Given the description of an element on the screen output the (x, y) to click on. 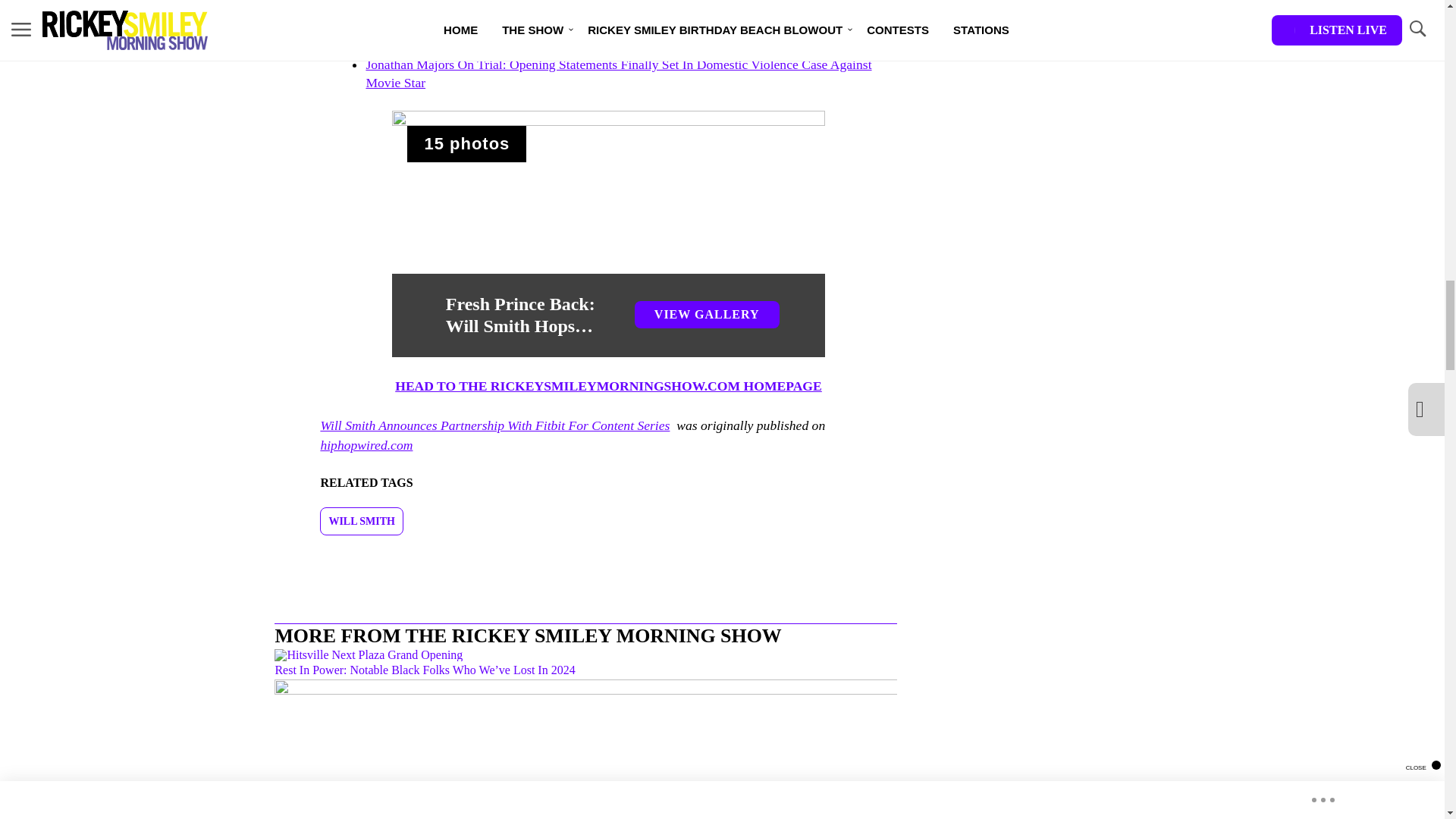
WILL SMITH (361, 520)
HEAD TO THE RICKEYSMILEYMORNINGSHOW.COM HOMEPAGE (608, 385)
Rapper Kodak Black Arrested for Possession of Cocaine (515, 46)
Media Playlist (466, 144)
hiphopwired.com (366, 444)
